Given the description of an element on the screen output the (x, y) to click on. 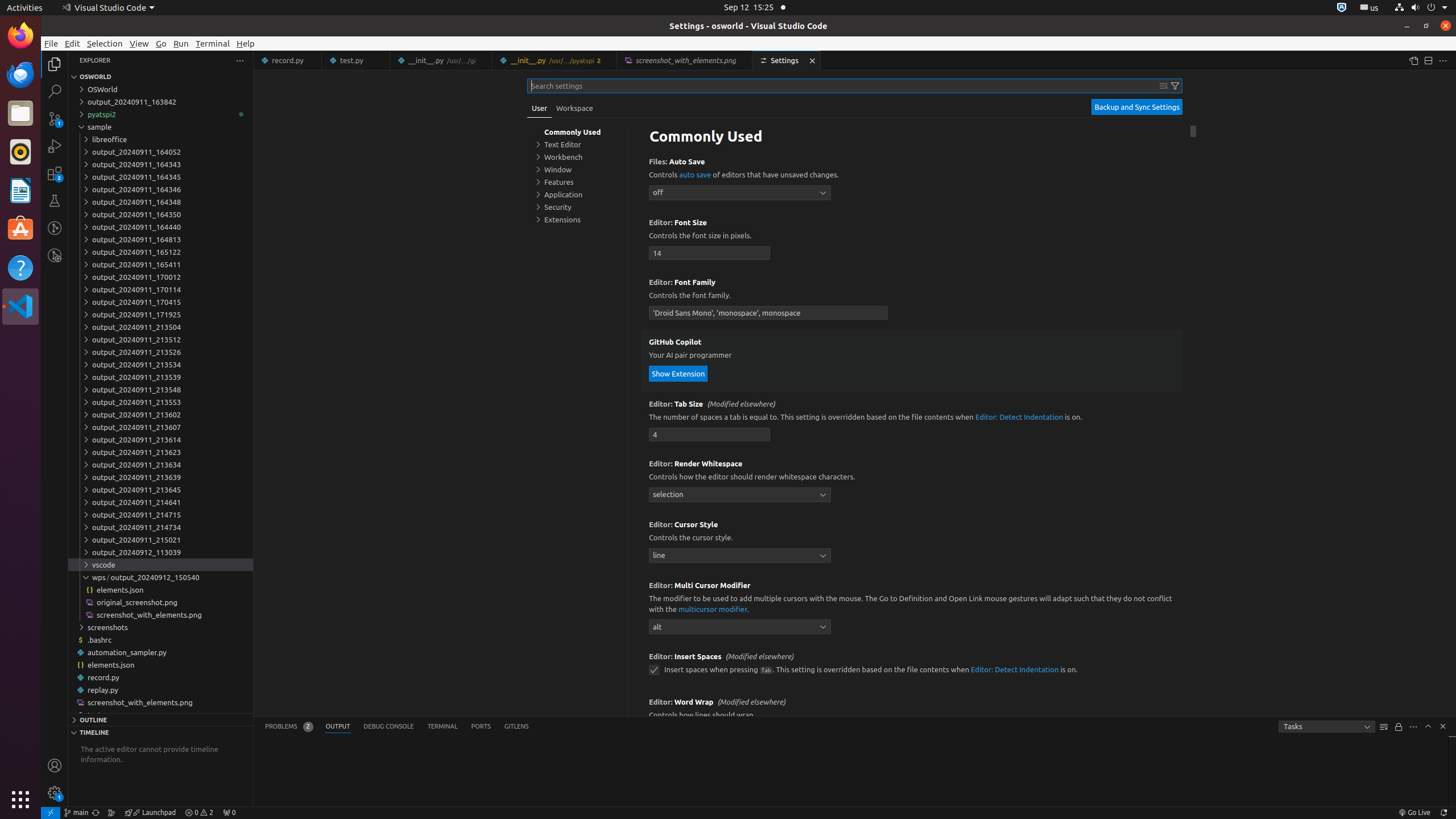
elements.json Element type: tree-item (160, 664)
Manage - New Code update available. Element type: push-button (54, 792)
Application, group Element type: tree-item (577, 194)
output_20240911_170415 Element type: tree-item (160, 301)
